Given the description of an element on the screen output the (x, y) to click on. 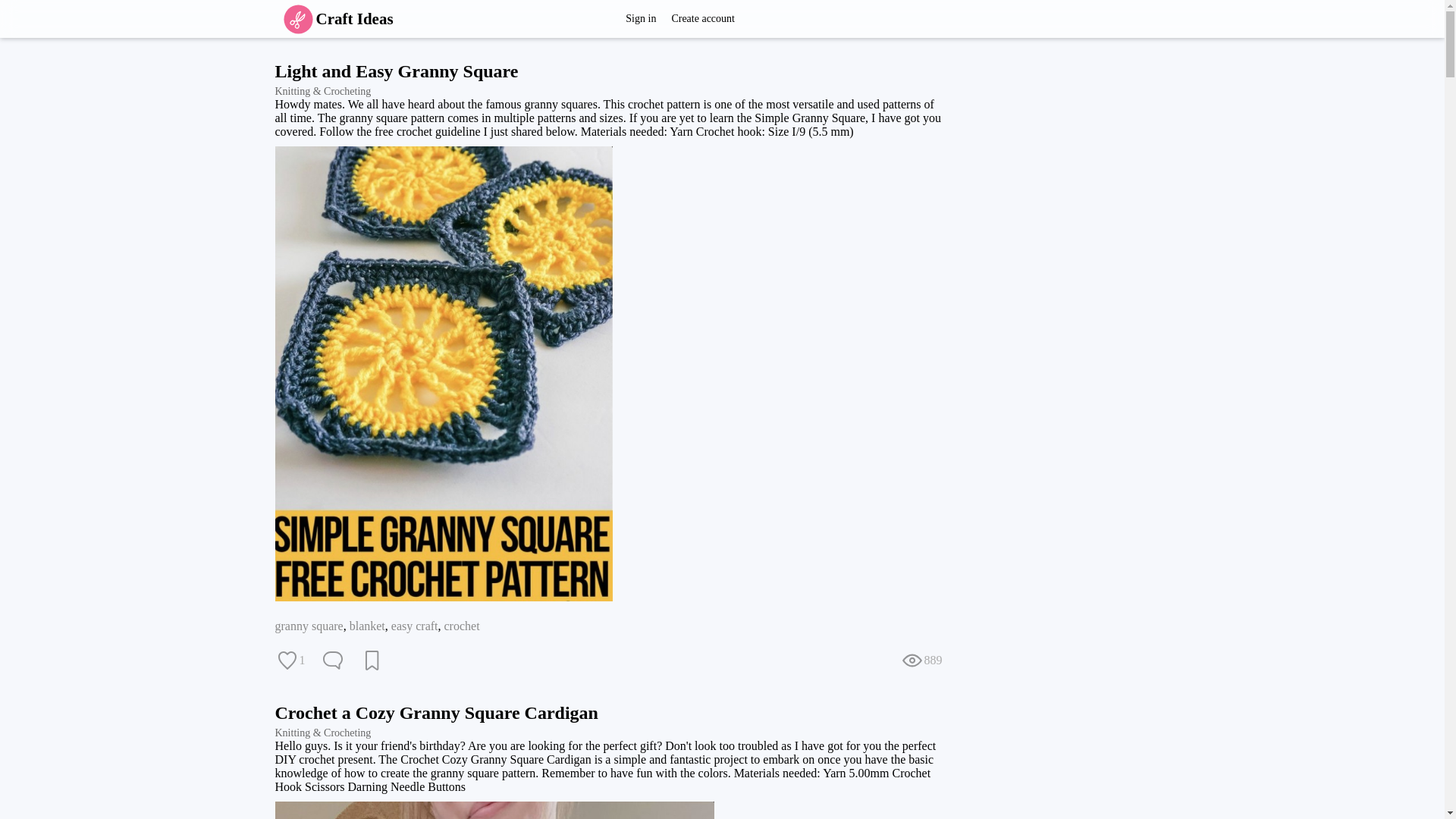
blanket (367, 625)
granny square (308, 625)
crochet (462, 625)
Light and Easy Granny Square (396, 71)
Sign in (640, 18)
Sign in (640, 18)
Comments (331, 660)
easy craft (414, 625)
Create account (702, 18)
Craft Ideas (333, 18)
